Given the description of an element on the screen output the (x, y) to click on. 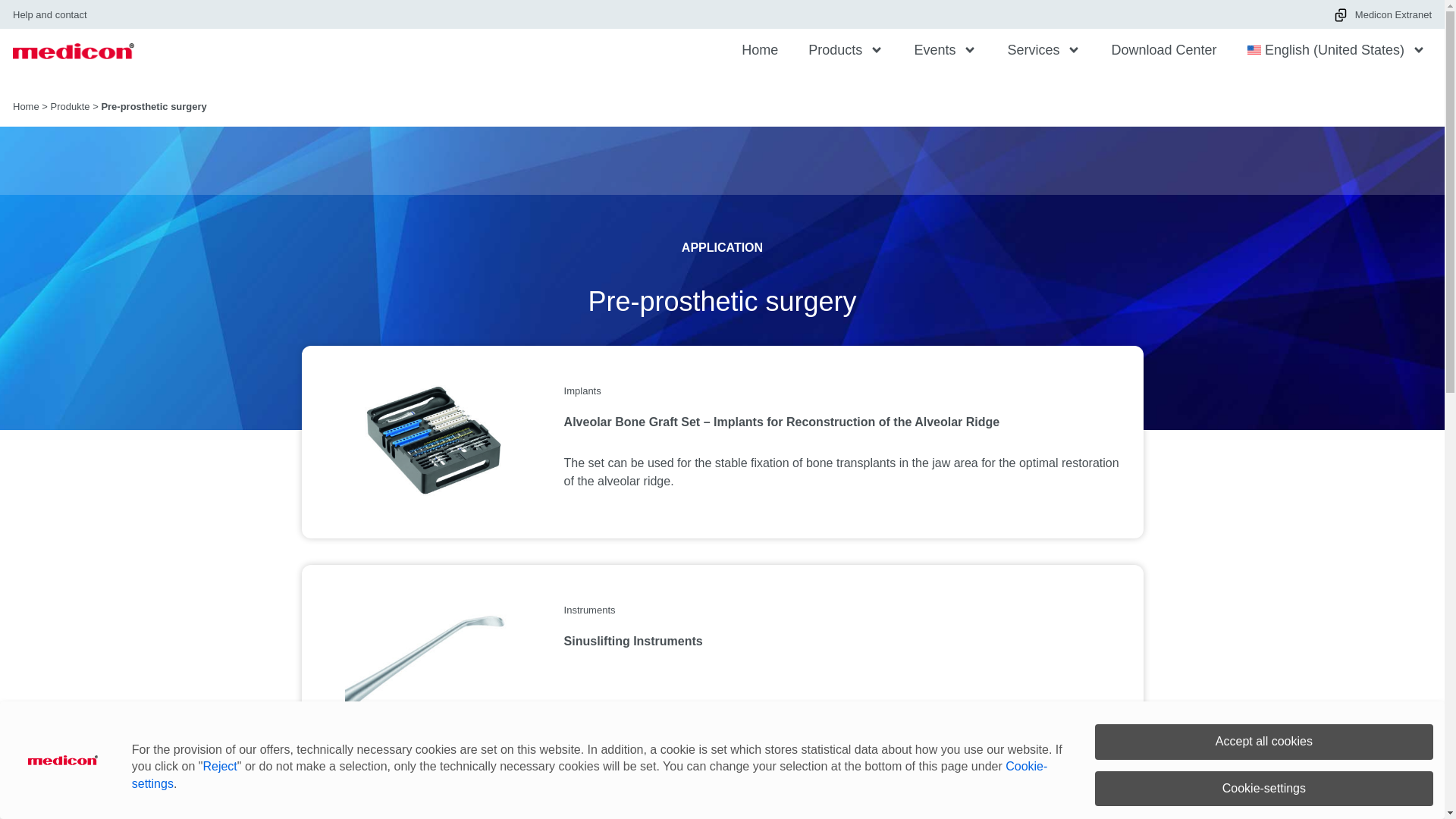
Events (944, 49)
Products (845, 49)
Home (759, 49)
Medicon Extranet (1382, 14)
Download Center (1163, 49)
Help and contact (50, 14)
Home (26, 105)
Services (1043, 49)
Produkte (70, 105)
